Given the description of an element on the screen output the (x, y) to click on. 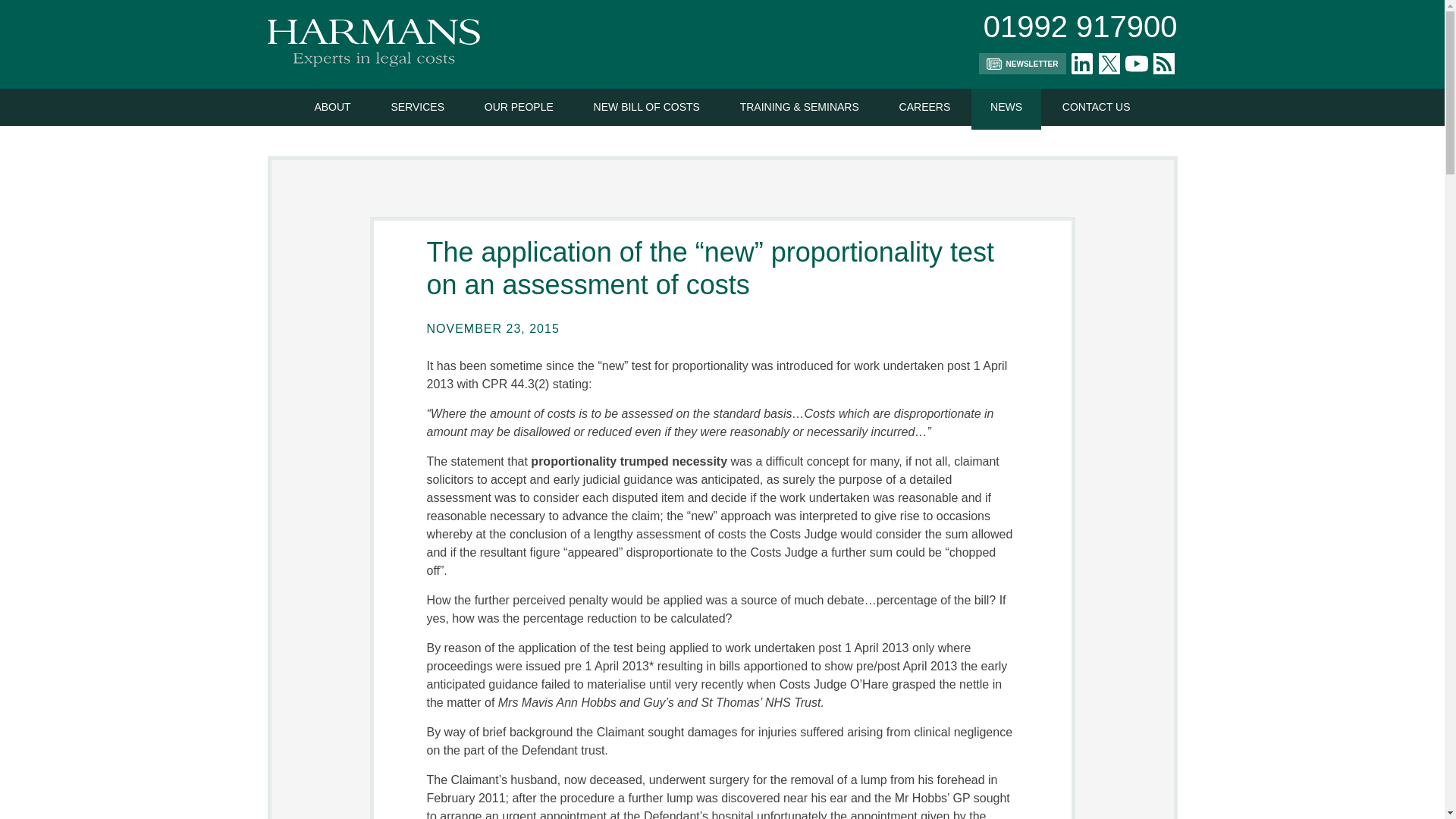
OUR PEOPLE (518, 107)
CAREERS (924, 107)
NEW BILL OF COSTS (647, 107)
ABOUT (332, 107)
NEWSLETTER (1021, 63)
NEWS (1006, 107)
SERVICES (417, 107)
01992 917900 (1080, 26)
CONTACT US (1096, 107)
